Given the description of an element on the screen output the (x, y) to click on. 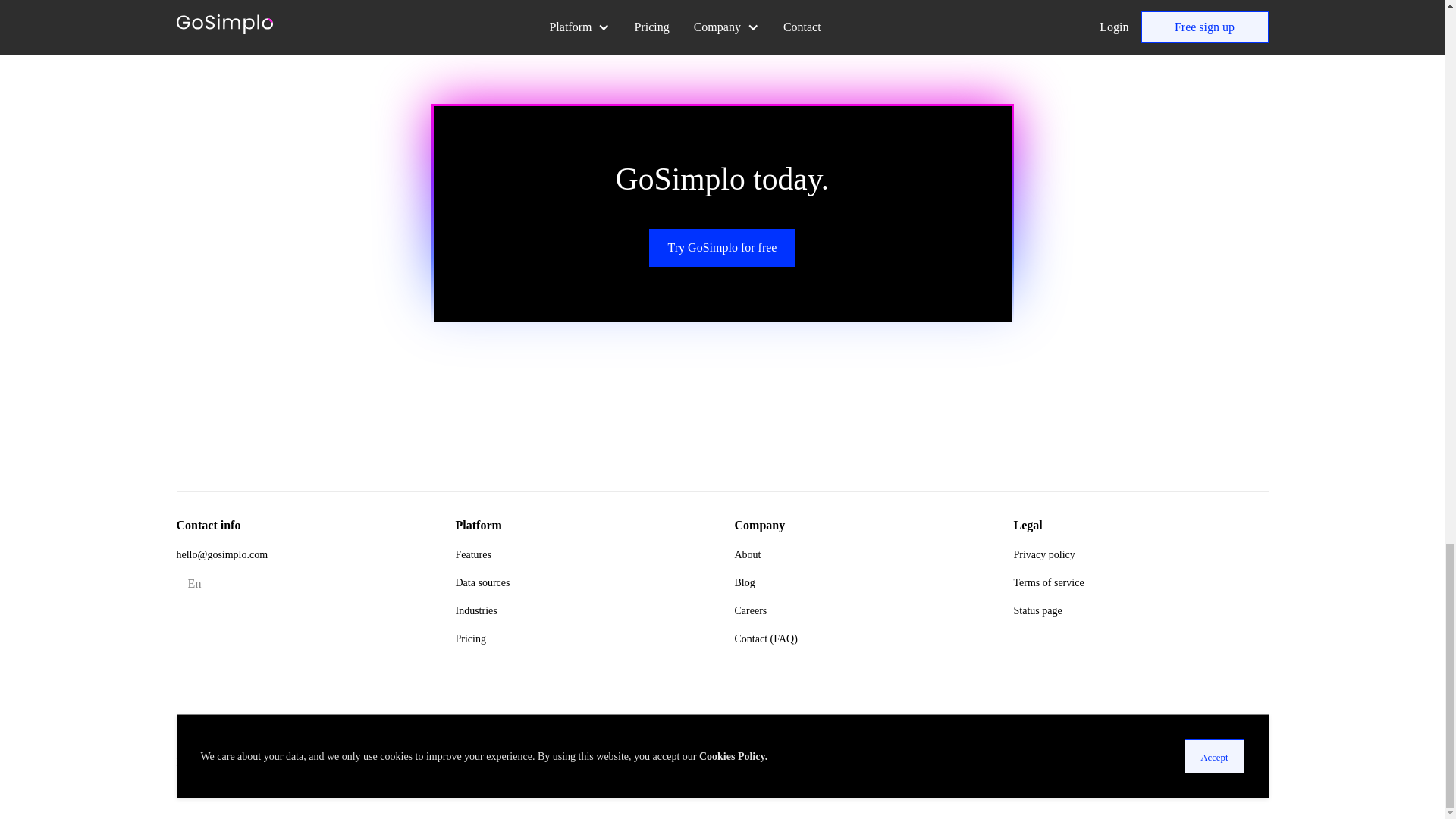
Pricing (469, 638)
Privacy policy (1043, 554)
Terms of service (1048, 582)
Try GoSimplo for free (722, 247)
Industries (475, 610)
About (746, 554)
Features (472, 554)
Careers (750, 610)
Data sources (481, 582)
